Given the description of an element on the screen output the (x, y) to click on. 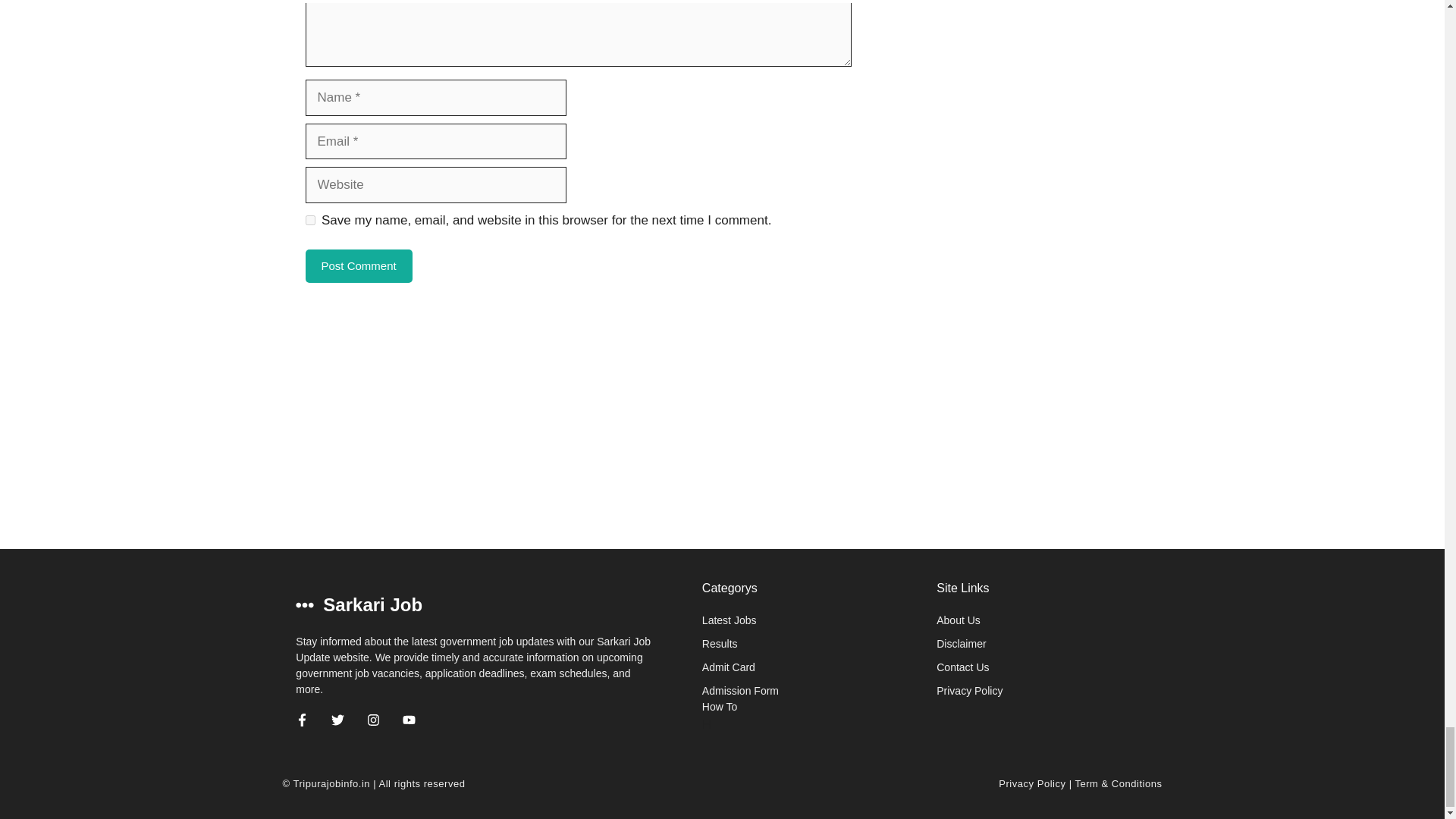
yes (309, 220)
Post Comment (358, 266)
Post Comment (358, 266)
